Given the description of an element on the screen output the (x, y) to click on. 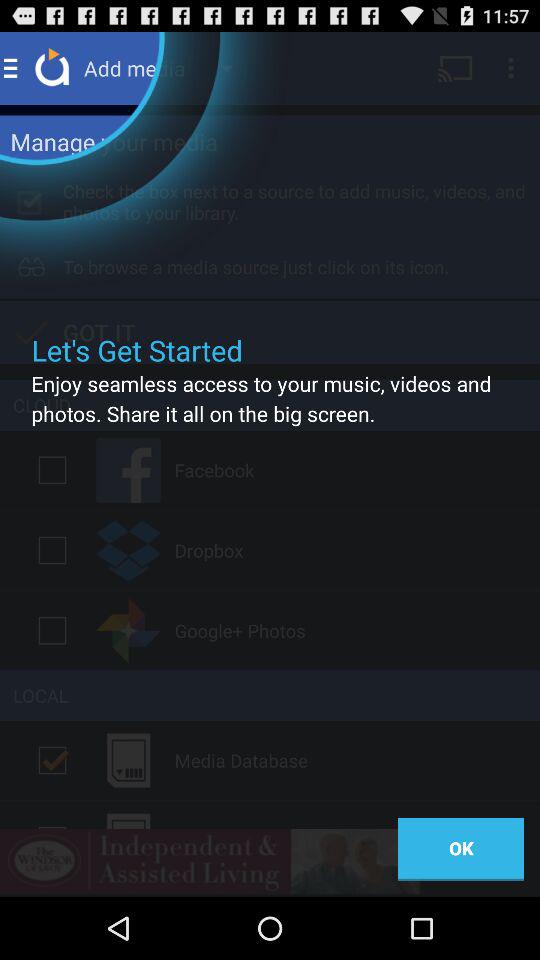
check for media database (52, 760)
